Given the description of an element on the screen output the (x, y) to click on. 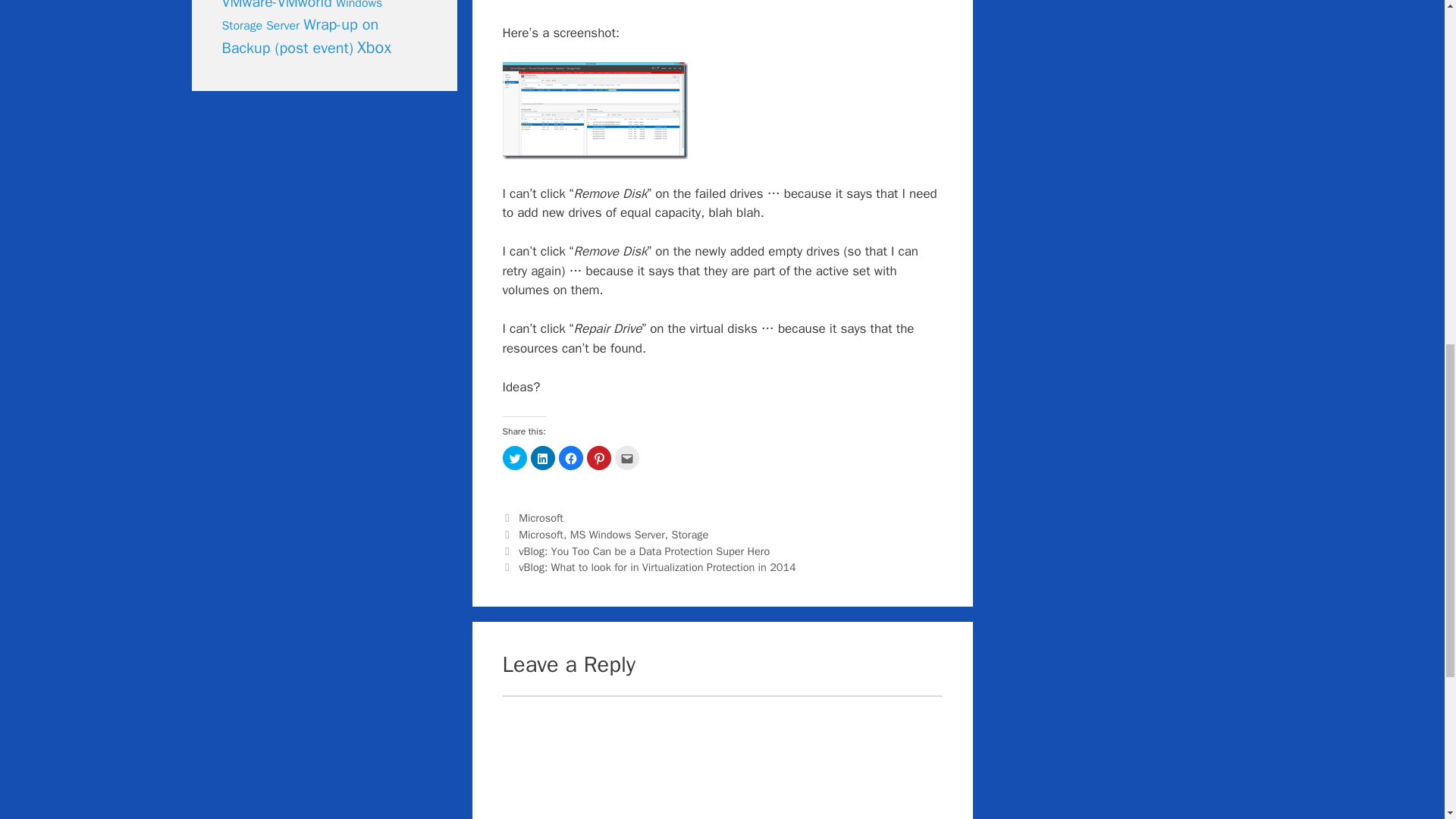
StorageSpaces-error1 (594, 110)
MS Windows Server (617, 534)
Click to email this to a friend (626, 457)
Previous (636, 550)
Click to share on LinkedIn (542, 457)
Click to share on Facebook (569, 457)
Microsoft (540, 517)
Click to share on Twitter (513, 457)
Storage (689, 534)
Next (648, 567)
